Given the description of an element on the screen output the (x, y) to click on. 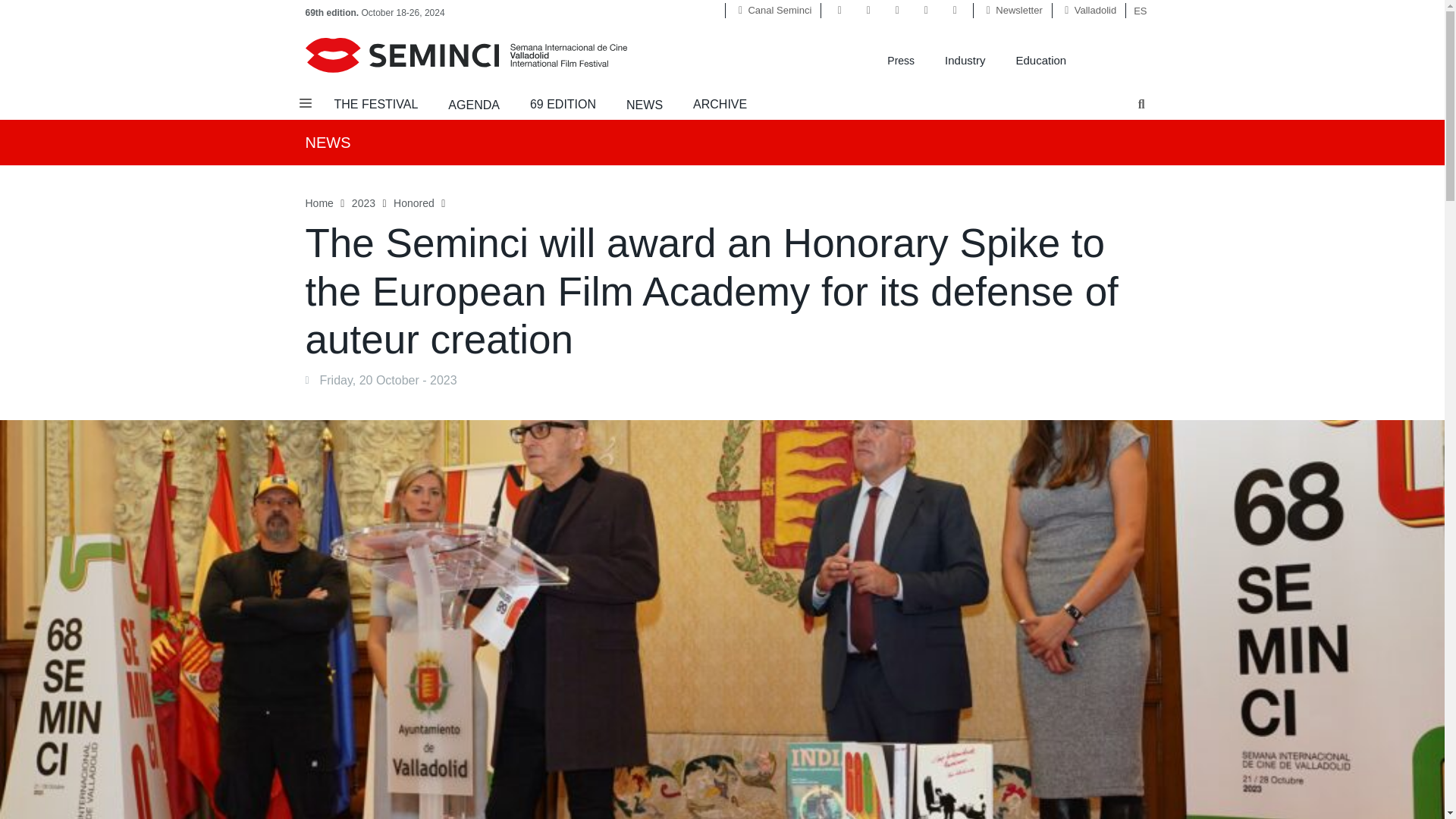
Newsletter (1018, 9)
AGENDA (473, 104)
Education (1039, 59)
Industry (964, 59)
ES (1136, 9)
2023 (363, 203)
Home (318, 203)
Home (318, 203)
Honored (413, 203)
Valladolid (1095, 9)
Canal Seminci (779, 9)
Honored (413, 203)
2023 (363, 203)
NEWS (644, 104)
